Given the description of an element on the screen output the (x, y) to click on. 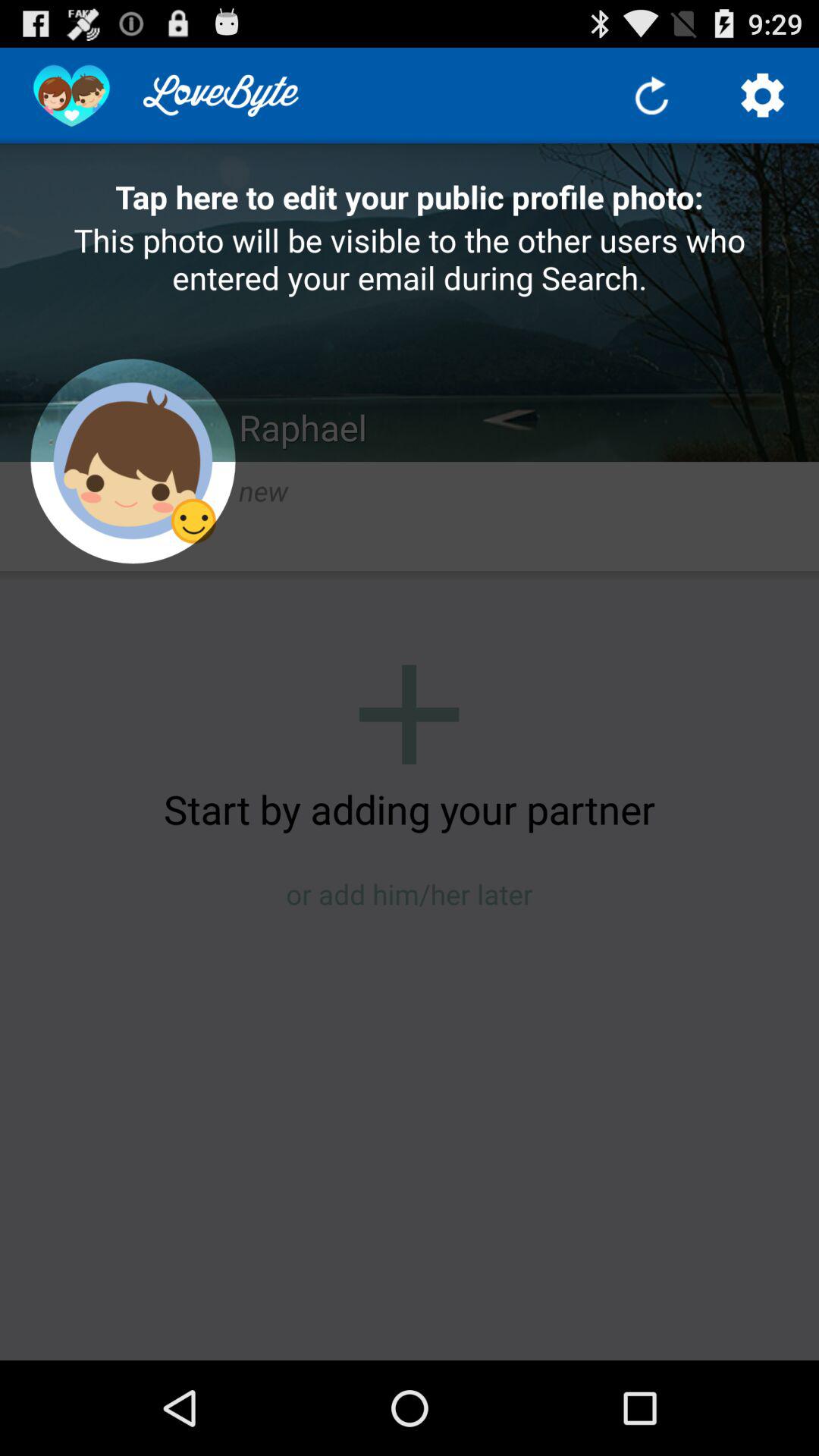
refresh (651, 95)
